Given the description of an element on the screen output the (x, y) to click on. 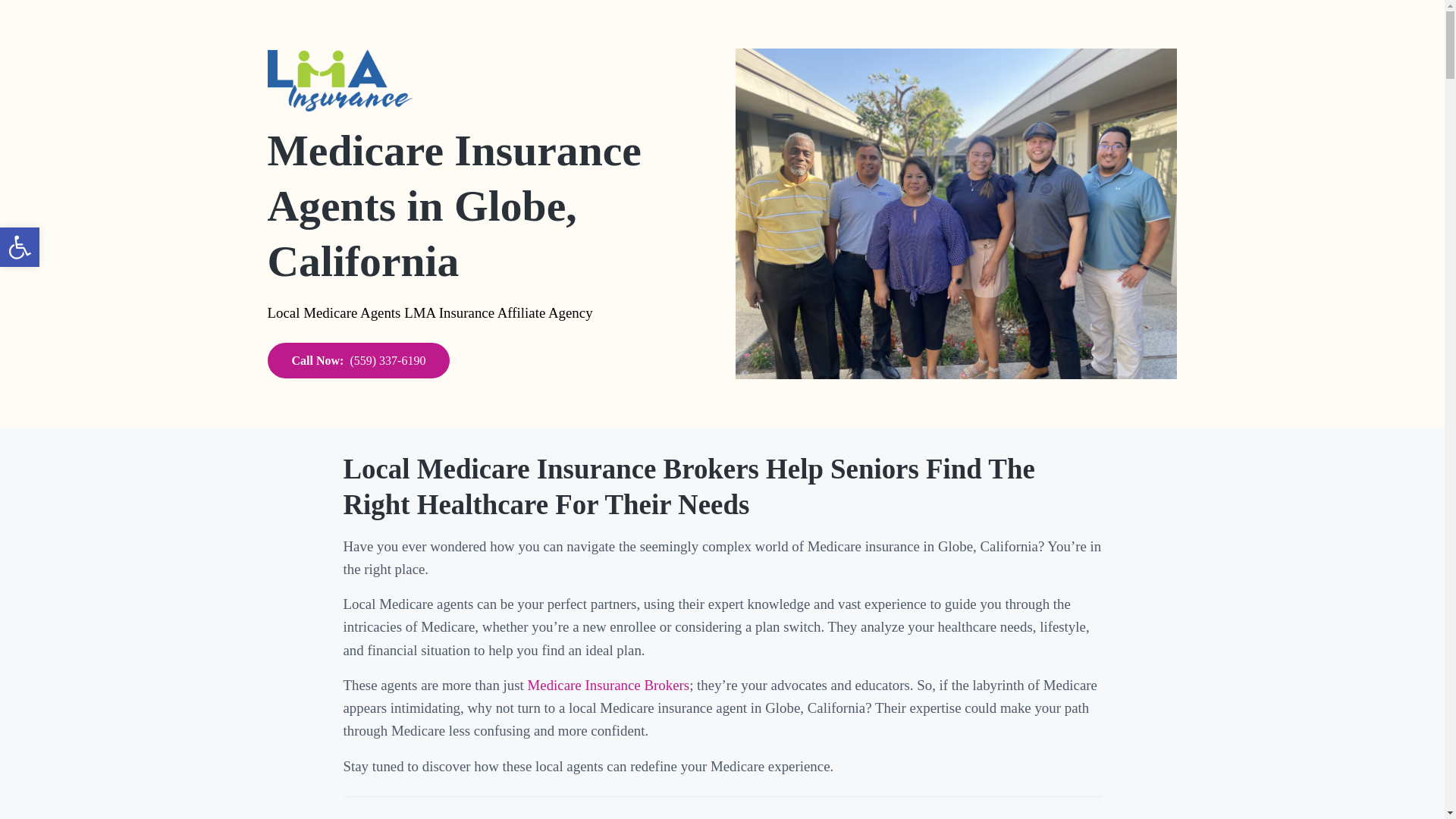
Accessibility Tools (19, 247)
Reset (19, 246)
Links Underline (19, 246)
